Given the description of an element on the screen output the (x, y) to click on. 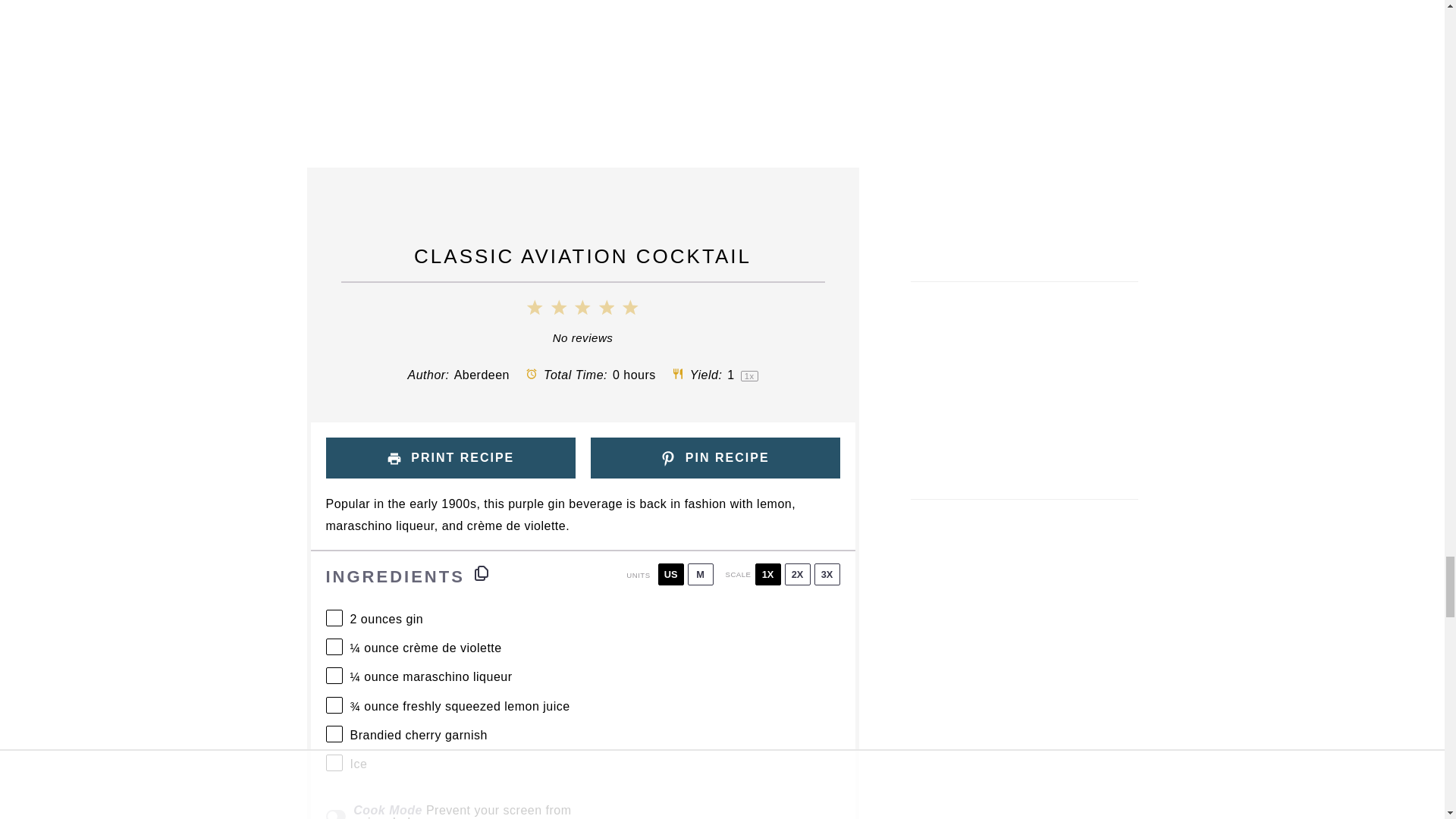
COPY TO CLIPBOARD COPY TO CLIPBOARD (480, 573)
